Given the description of an element on the screen output the (x, y) to click on. 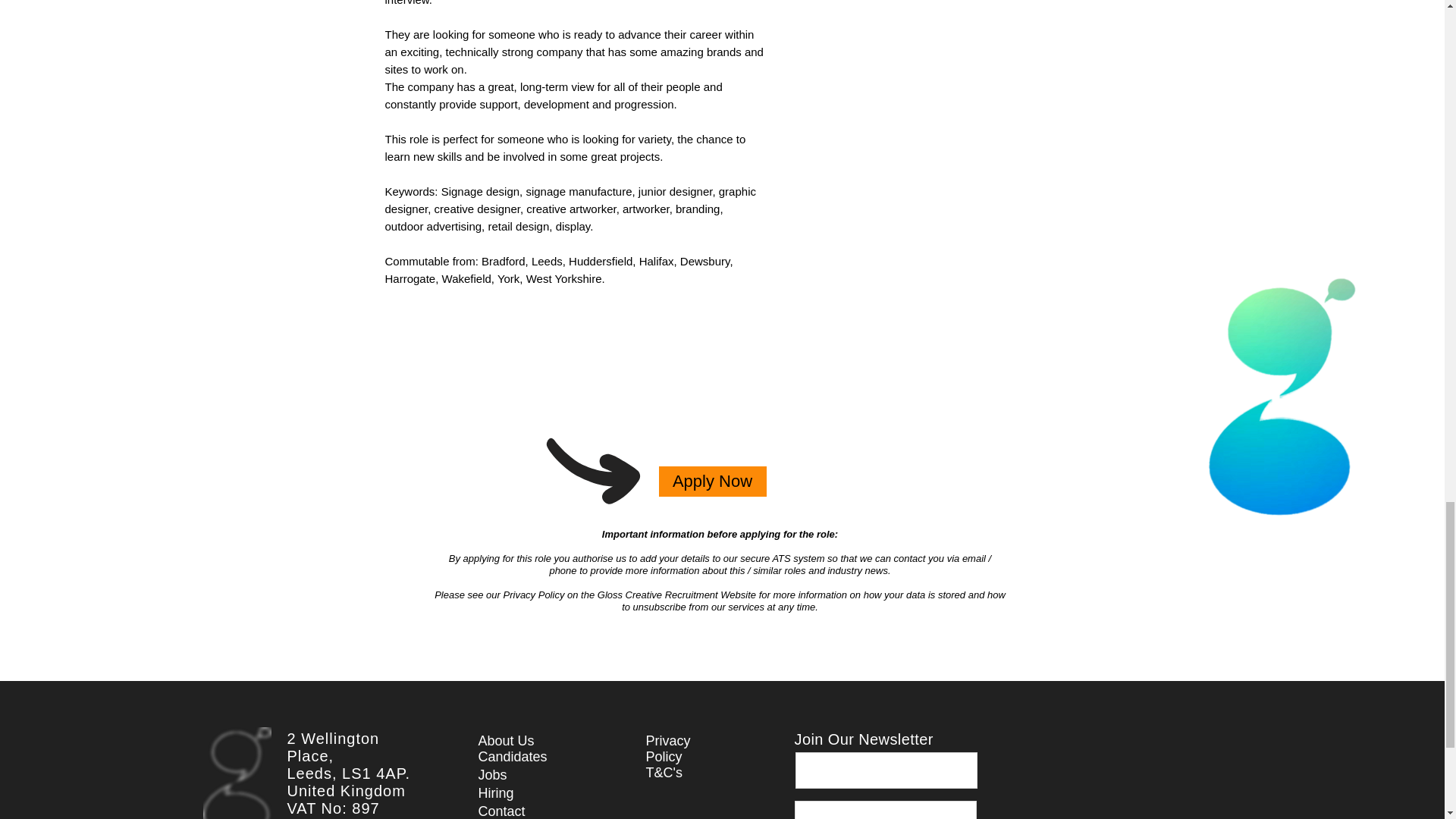
Hiring (495, 792)
Apply Now (711, 481)
Jobs (491, 774)
Contact (500, 811)
Privacy Policy (668, 748)
About Us (505, 740)
Candidates (512, 756)
